Given the description of an element on the screen output the (x, y) to click on. 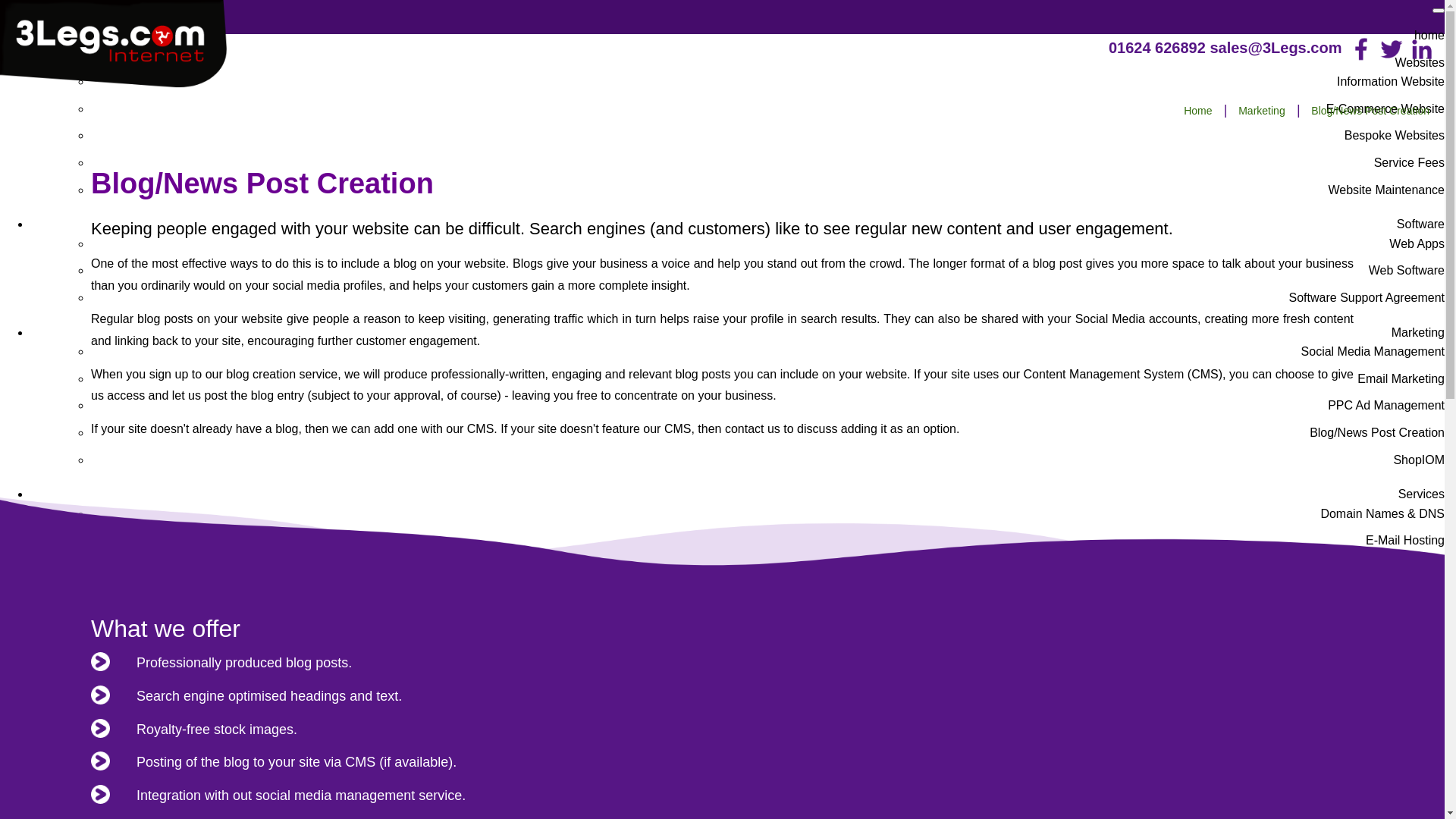
Blog/News Post Creation Element type: text (1370, 110)
Marketing Element type: text (1417, 332)
Websites Element type: text (1419, 62)
Website Maintenance Element type: text (1385, 189)
Services Element type: text (1421, 493)
Spam Protection Element type: text (1399, 648)
Website Hosting Element type: text (1400, 567)
About Us Element type: text (1419, 755)
home Element type: text (1429, 34)
Blog/News Post Creation Element type: text (1376, 432)
3Legs CMS Element type: text (1412, 593)
sales@3Legs.com Element type: text (1275, 47)
SaaS Support Element type: text (1406, 674)
E-Commerce Website Element type: text (1385, 108)
Marketing Element type: text (1261, 110)
E-Mail Hosting Element type: text (1404, 539)
PPC Ad Management Element type: text (1385, 404)
Web Apps Element type: text (1416, 243)
How to Pay Element type: text (1413, 809)
Web Software Element type: text (1406, 269)
01624 626892 Element type: text (1156, 47)
Information Website Element type: text (1390, 81)
How to Get a Website Element type: text (1385, 783)
Software Element type: text (1420, 223)
3Legs Cart Element type: text (1414, 621)
Software Support Agreement Element type: text (1366, 297)
Bespoke Websites Element type: text (1394, 134)
About Element type: text (1428, 736)
Domain Names & DNS Element type: text (1382, 513)
Service Fees Element type: text (1409, 162)
ShopIOM Element type: text (1418, 459)
Social Media Management Element type: text (1372, 351)
Email Marketing Element type: text (1400, 378)
Home Element type: text (1197, 110)
IT Support Element type: text (1416, 709)
